Given the description of an element on the screen output the (x, y) to click on. 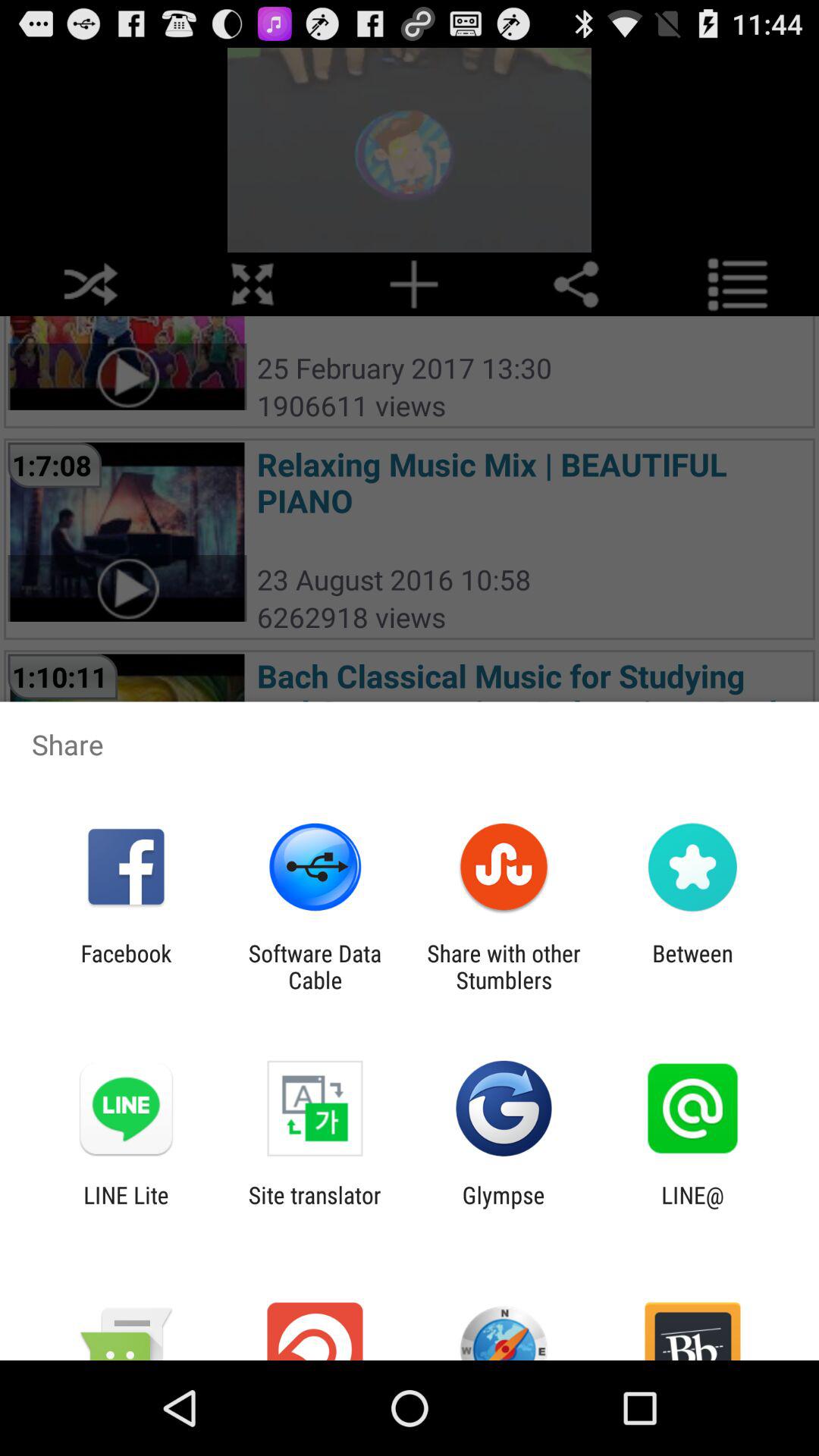
choose item next to software data cable (503, 966)
